Given the description of an element on the screen output the (x, y) to click on. 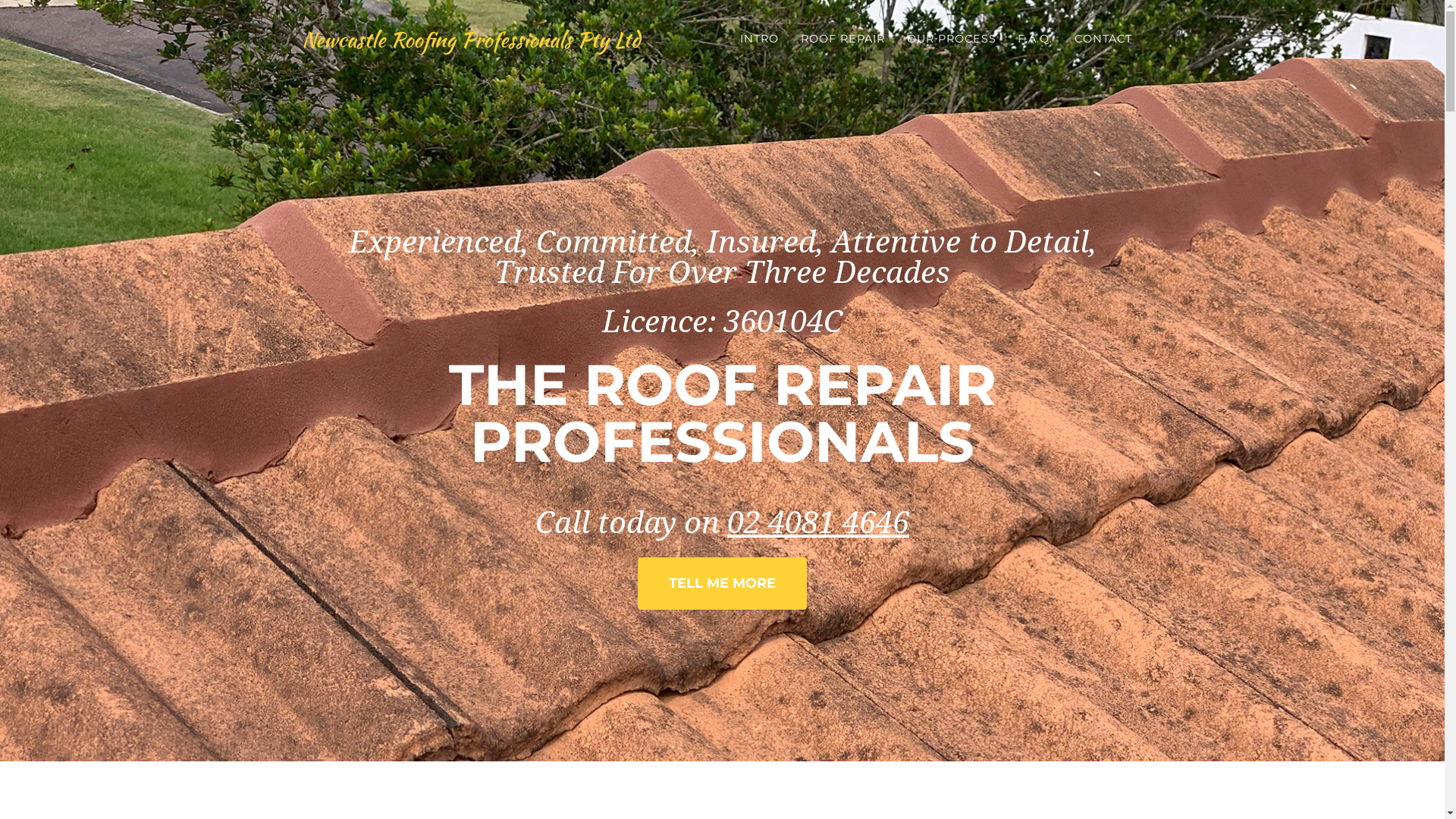
TELL ME MORE Element type: text (721, 583)
CONTACT Element type: text (1103, 38)
INTRO Element type: text (759, 38)
F.A.Q. Element type: text (1035, 38)
02 4081 4646 Element type: text (818, 522)
OUR PROCESS Element type: text (951, 38)
ROOF REPAIR Element type: text (842, 38)
Newcastle Roofing Professionals Pty Ltd Element type: text (470, 39)
